Given the description of an element on the screen output the (x, y) to click on. 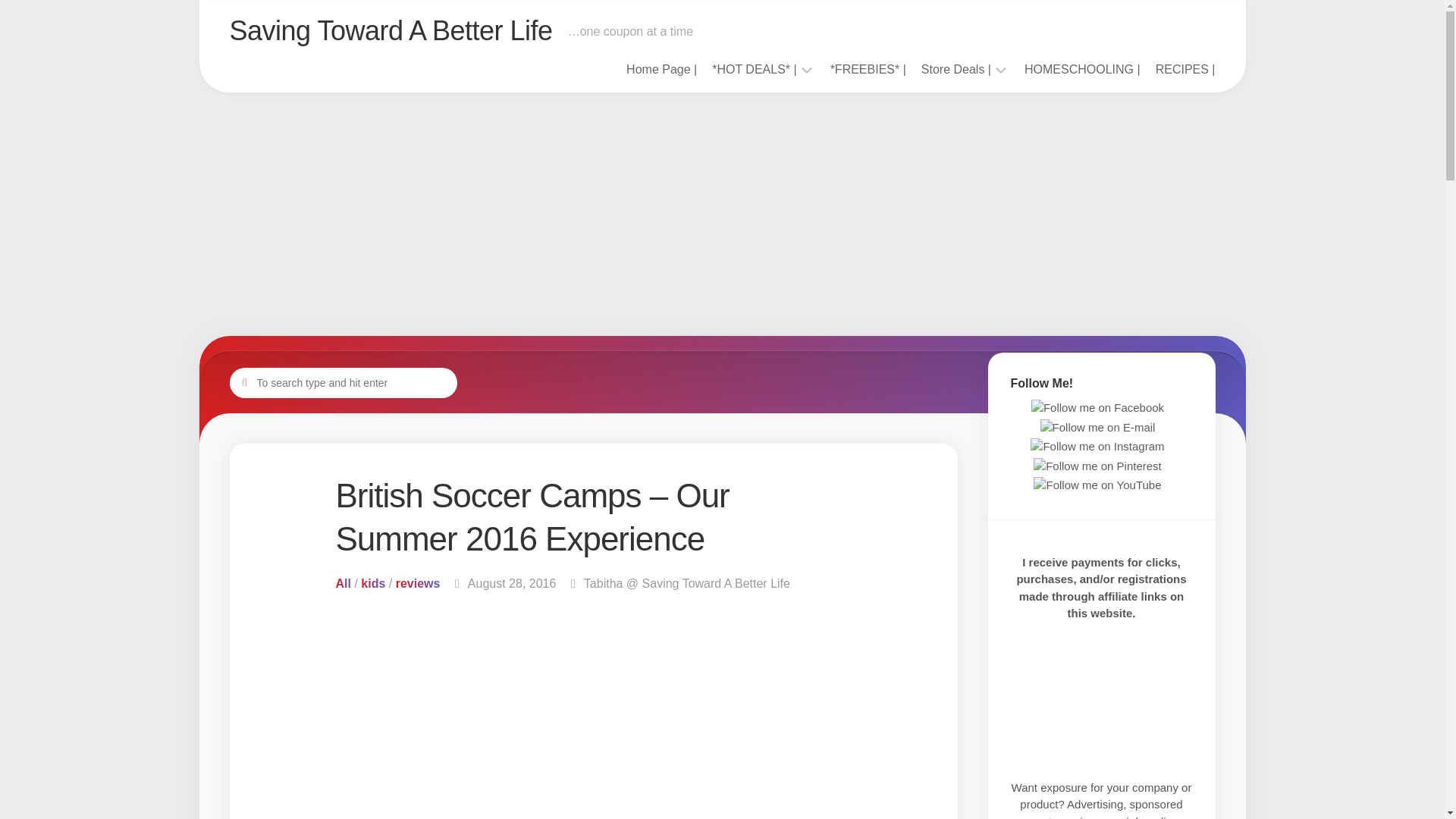
To search type and hit enter (342, 381)
To search type and hit enter (342, 381)
Store Deals (956, 69)
kids (373, 583)
All (342, 583)
reviews (418, 583)
Home (661, 69)
Saving Toward A Better Life (389, 31)
